Given the description of an element on the screen output the (x, y) to click on. 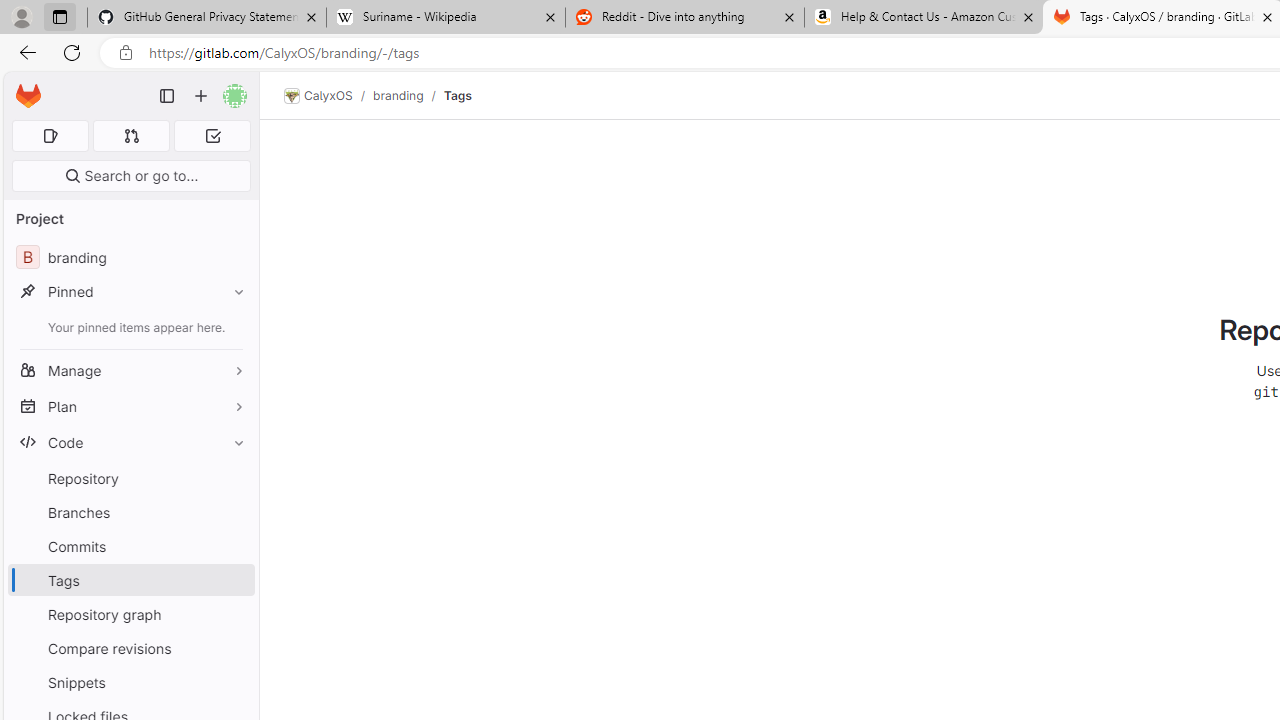
Pin Commits (234, 546)
CalyxOS/ (328, 96)
Pin Snippets (234, 682)
Repository graph (130, 614)
Pinned (130, 291)
Manage (130, 370)
Commits (130, 546)
branding/ (408, 95)
Assigned issues 0 (50, 136)
Tags (457, 95)
Commits (130, 546)
Snippets (130, 682)
Repository (130, 478)
Pin Tags (234, 580)
